Given the description of an element on the screen output the (x, y) to click on. 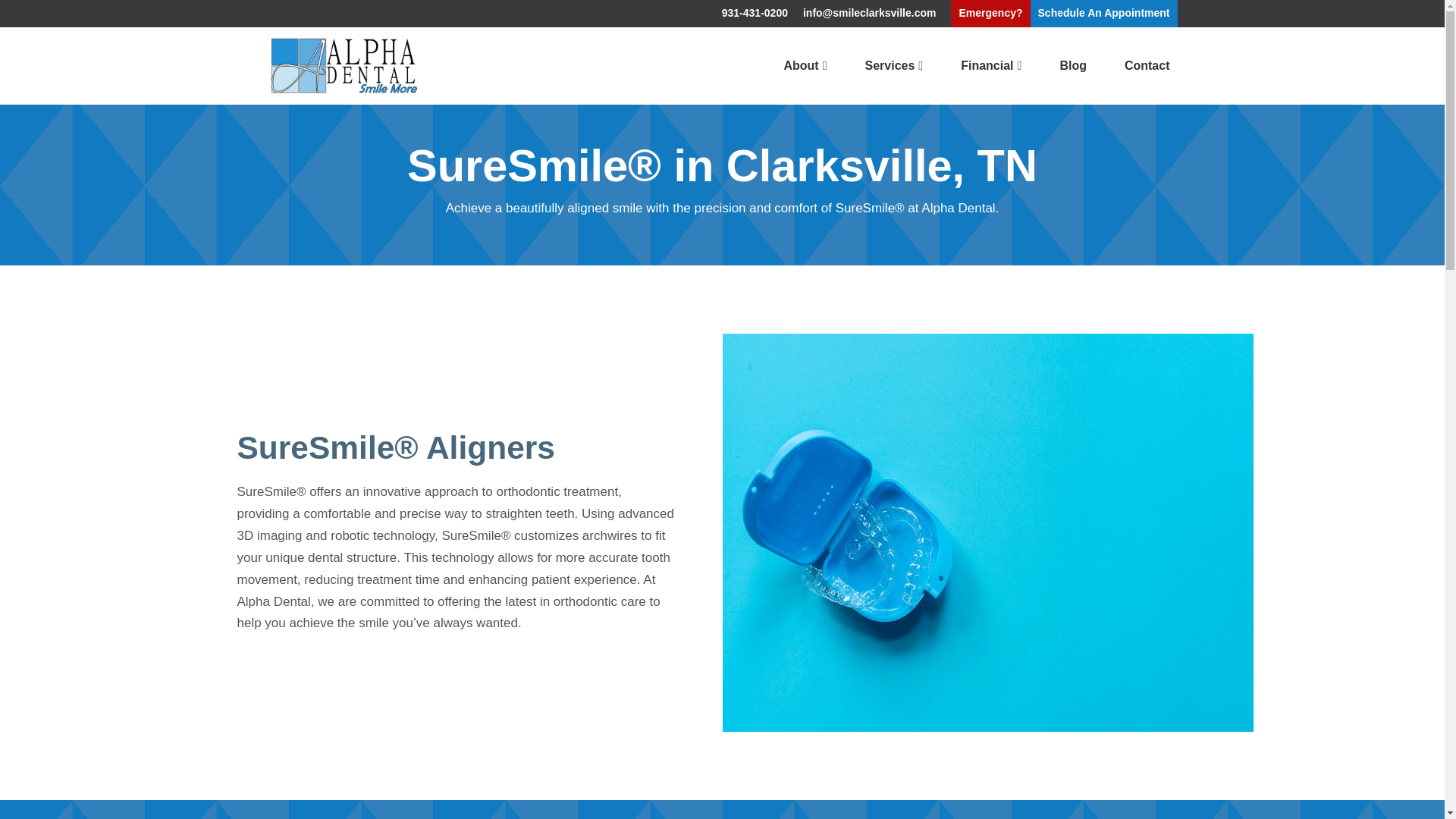
Financial (991, 65)
Emergency? (989, 13)
Contact (1146, 65)
Schedule An Appointment (1103, 13)
Services (893, 65)
Blog (1072, 65)
931-431-0200 (754, 13)
About (805, 65)
